Given the description of an element on the screen output the (x, y) to click on. 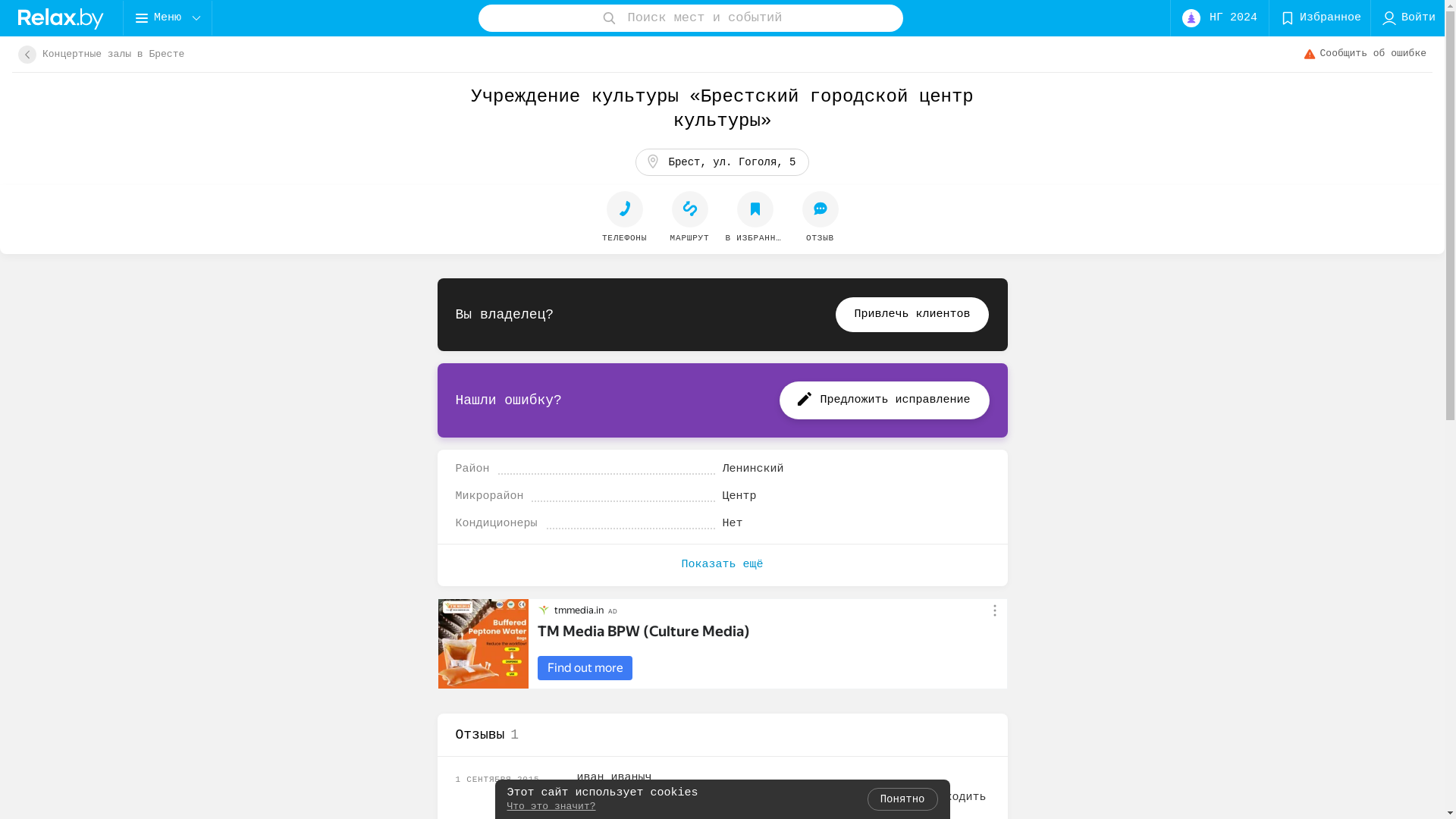
logo Element type: hover (61, 18)
